Given the description of an element on the screen output the (x, y) to click on. 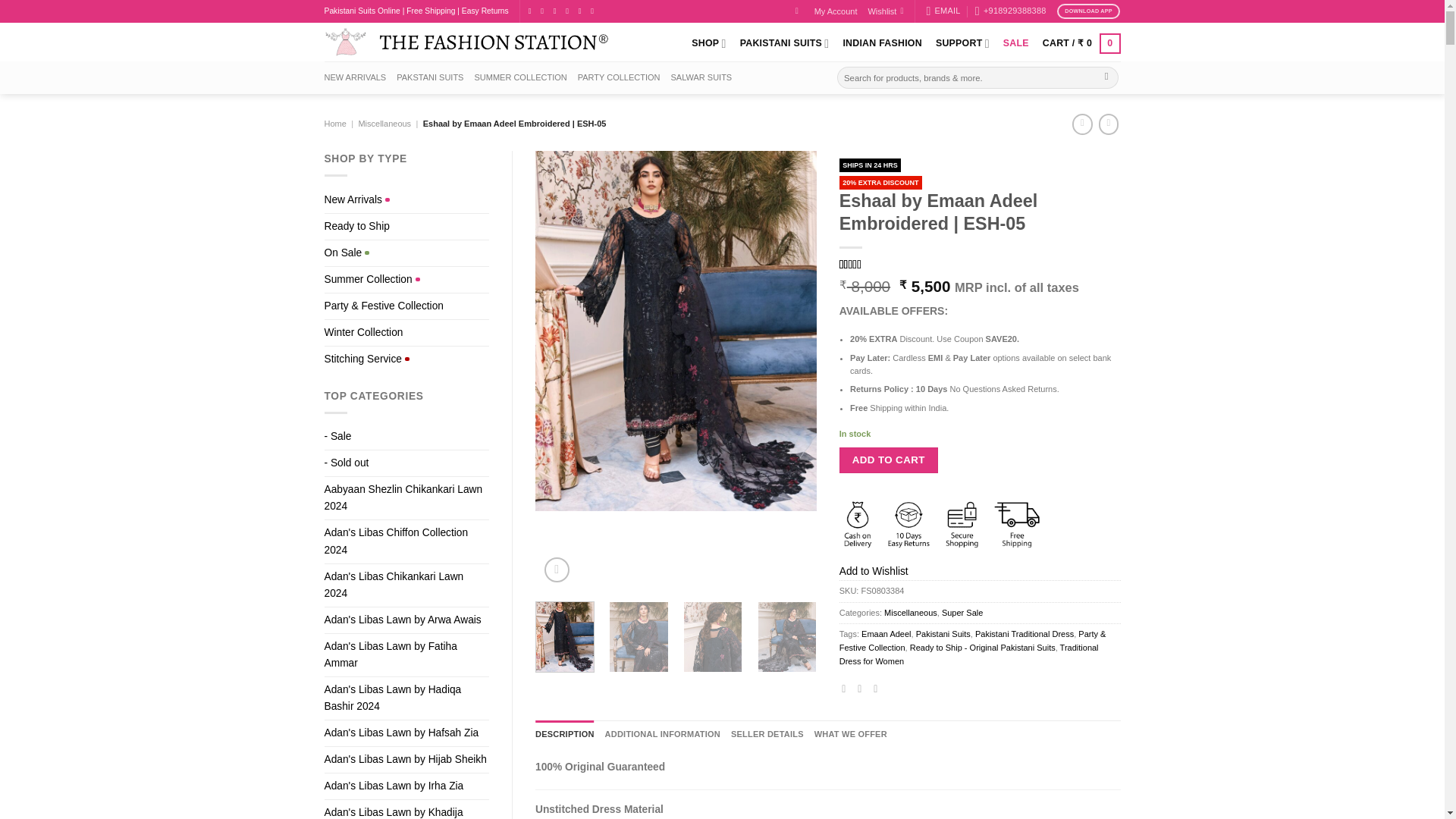
DOWNLOAD APP (1089, 11)
Wishlist (884, 11)
Follow on X (556, 10)
PAKISTANI SUITS (784, 43)
Call us (582, 10)
Login (798, 10)
My Account (835, 11)
EMAIL (942, 11)
Follow on Instagram (544, 10)
Follow on Pinterest (594, 10)
SHOP (708, 43)
The Fashion Station - Pakistani Suits (466, 41)
Follow on Facebook (531, 10)
Wishlist (884, 11)
Send us an email (569, 10)
